Given the description of an element on the screen output the (x, y) to click on. 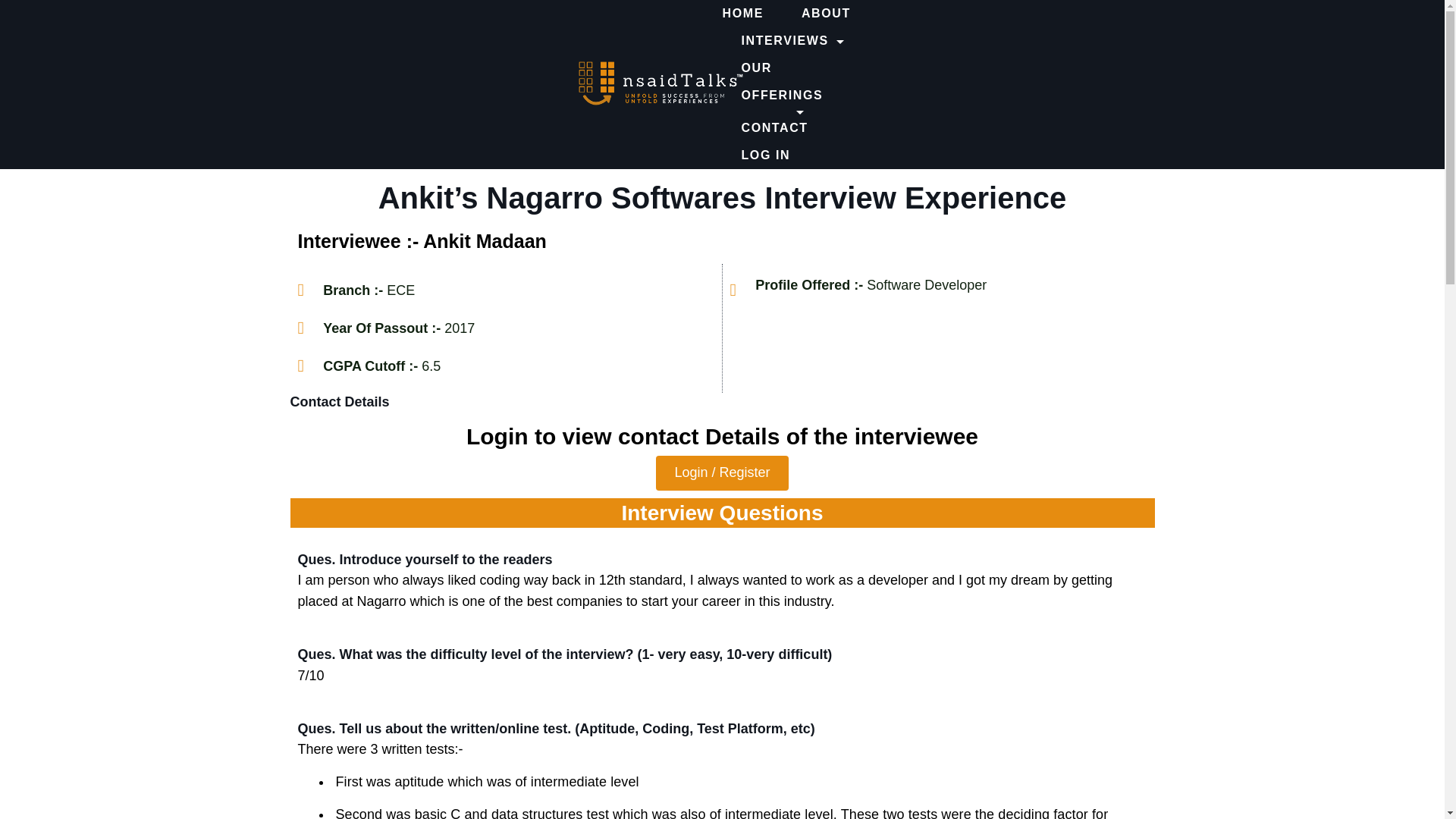
OUR OFFERINGS (795, 84)
LOG IN (756, 154)
CONTACT (774, 127)
ABOUT (826, 13)
INTERVIEWS (791, 40)
HOME (751, 13)
